Given the description of an element on the screen output the (x, y) to click on. 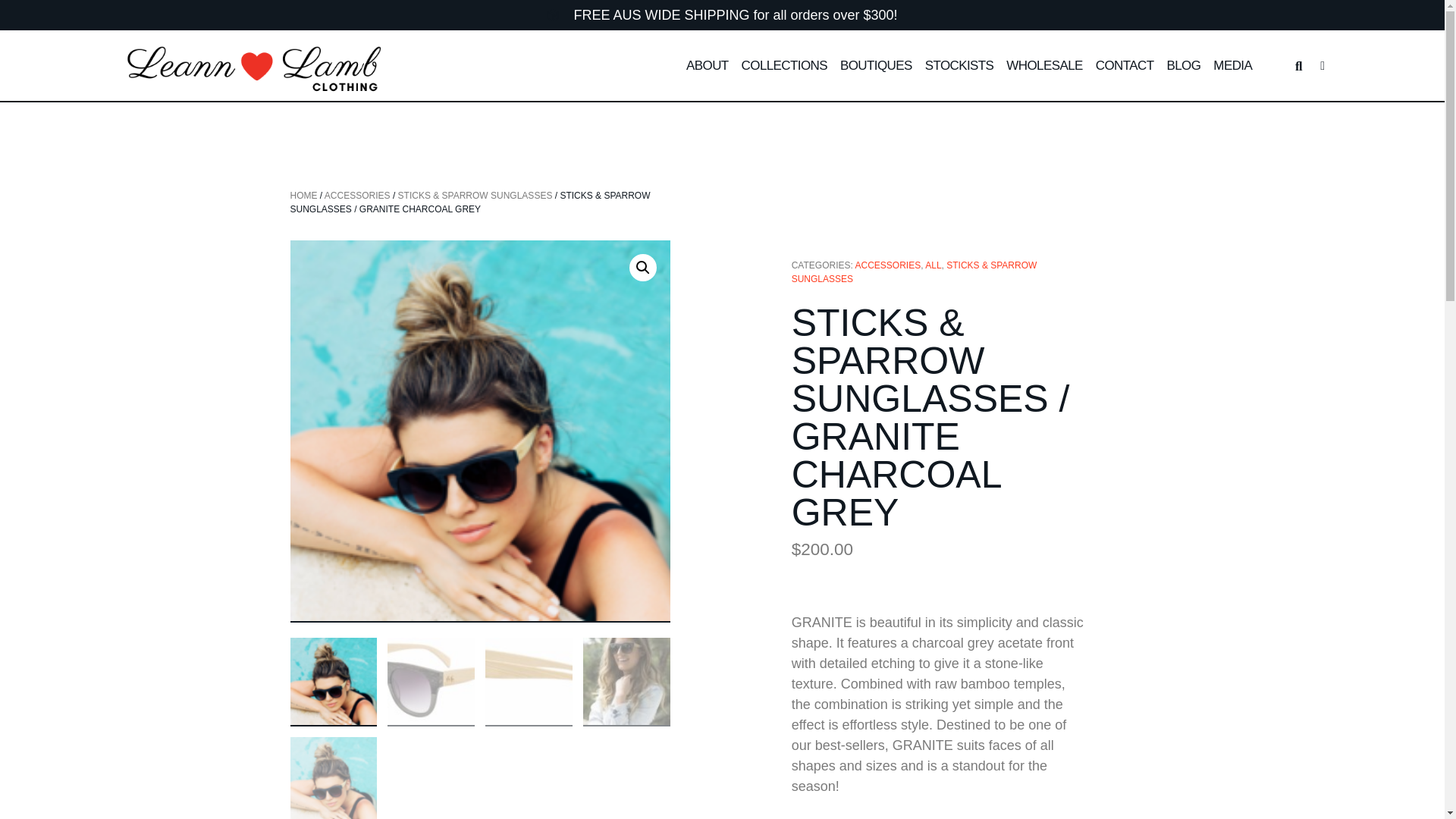
ABOUT (707, 65)
CONTACT (1125, 65)
BLOG (1182, 65)
STOCKISTS (959, 65)
Granite-Sticks-and-sparrow-sunglasses-lamb-and-lamb (860, 326)
HOME (303, 195)
COLLECTIONS (784, 65)
WHOLESALE (1043, 65)
MEDIA (1232, 65)
BOUTIQUES (876, 65)
